Given the description of an element on the screen output the (x, y) to click on. 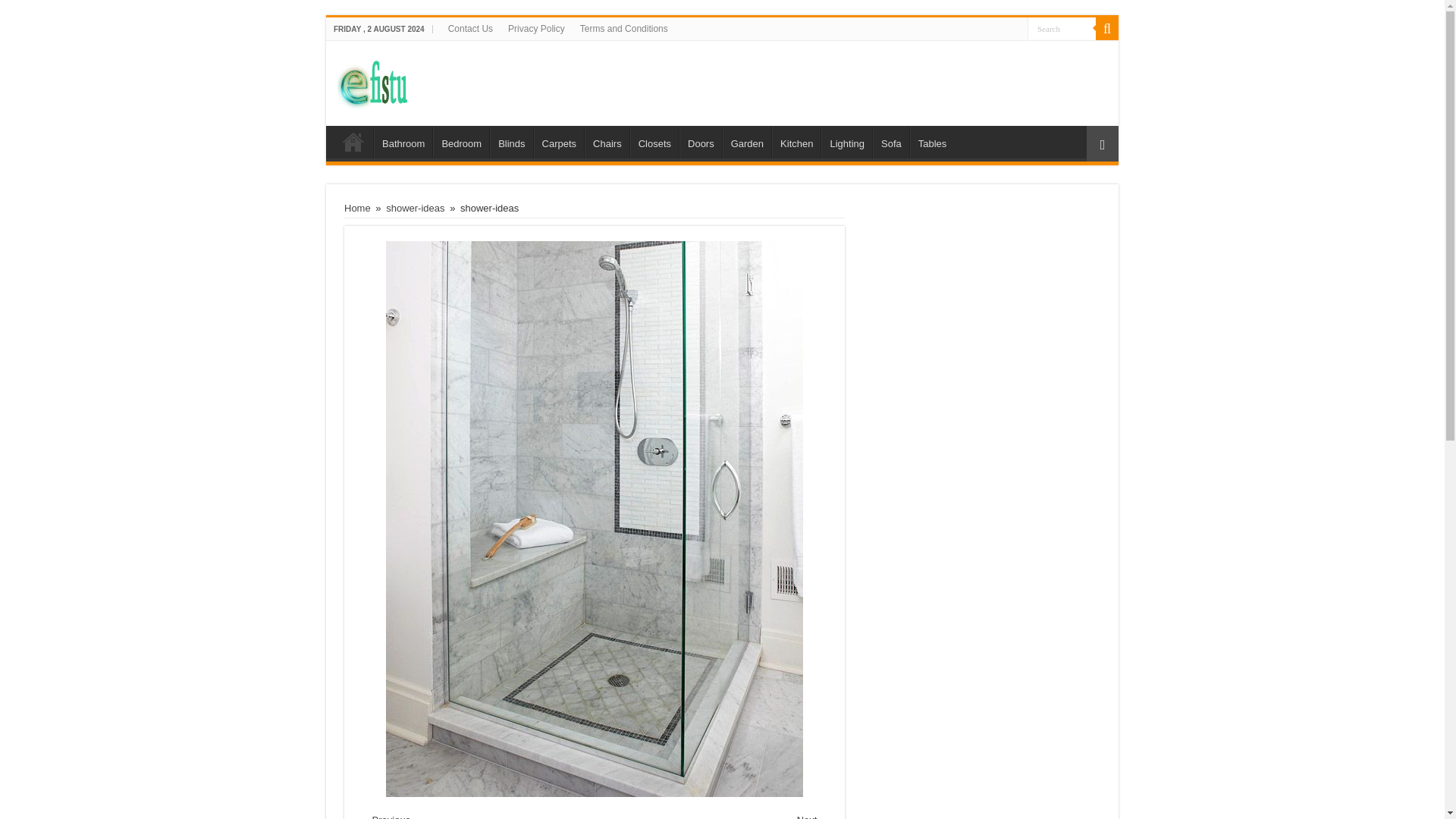
Home (352, 142)
Contact Us (470, 28)
Closets (654, 142)
Garden (746, 142)
Home (357, 207)
Kitchen (796, 142)
Search (1061, 28)
Tables (932, 142)
efistu.com (721, 83)
Doors (700, 142)
Lighting (846, 142)
Sofa (890, 142)
Search (1107, 28)
Bedroom (460, 142)
shower-ideas (414, 207)
